Given the description of an element on the screen output the (x, y) to click on. 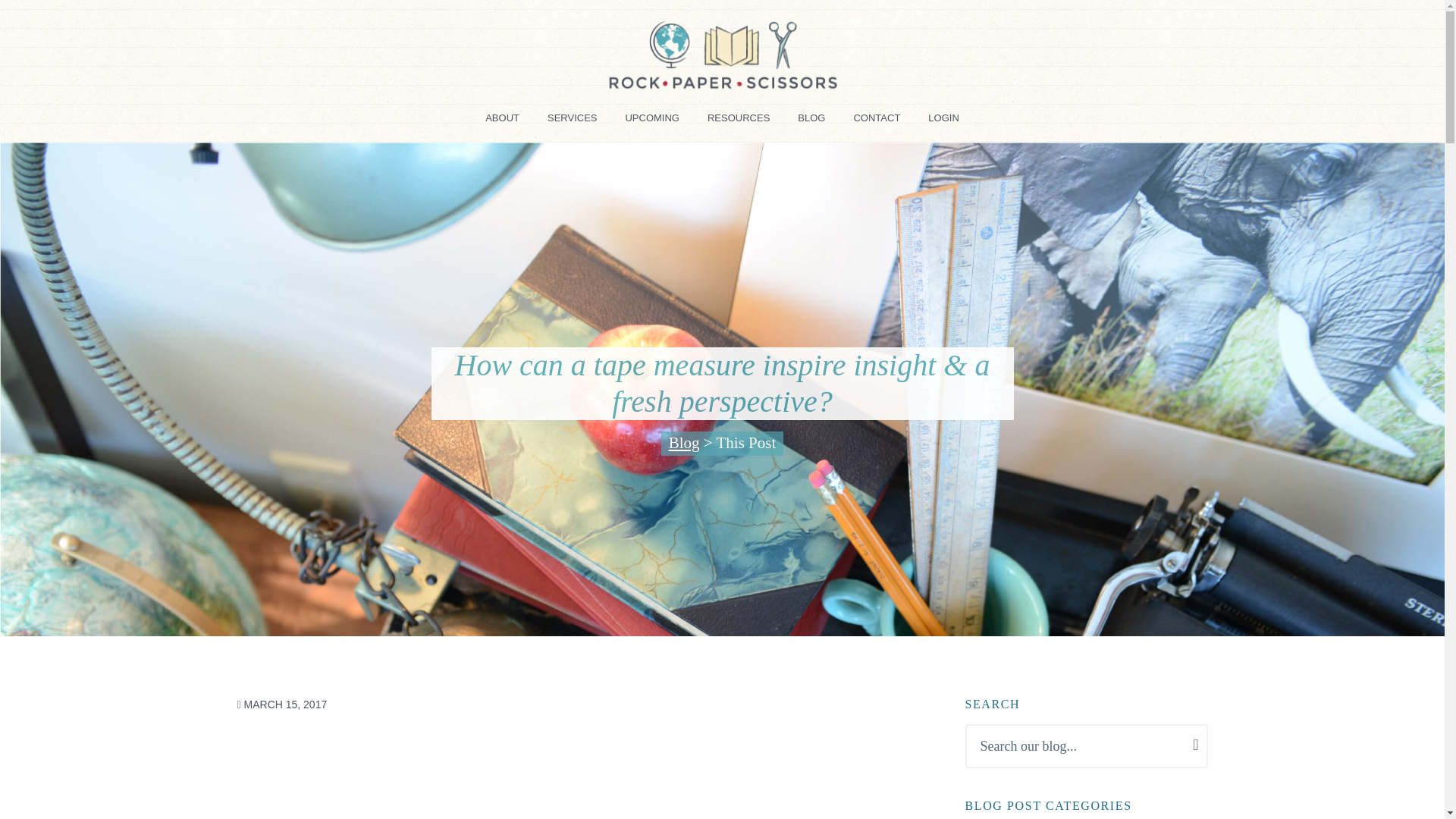
Search (85, 20)
RESOURCES (739, 122)
SERVICES (572, 122)
ROCK PAPER SCISSORS (310, 109)
BLOG (812, 122)
UPCOMING (651, 122)
CONTACT (876, 122)
Blog (684, 443)
ABOUT (502, 122)
